Given the description of an element on the screen output the (x, y) to click on. 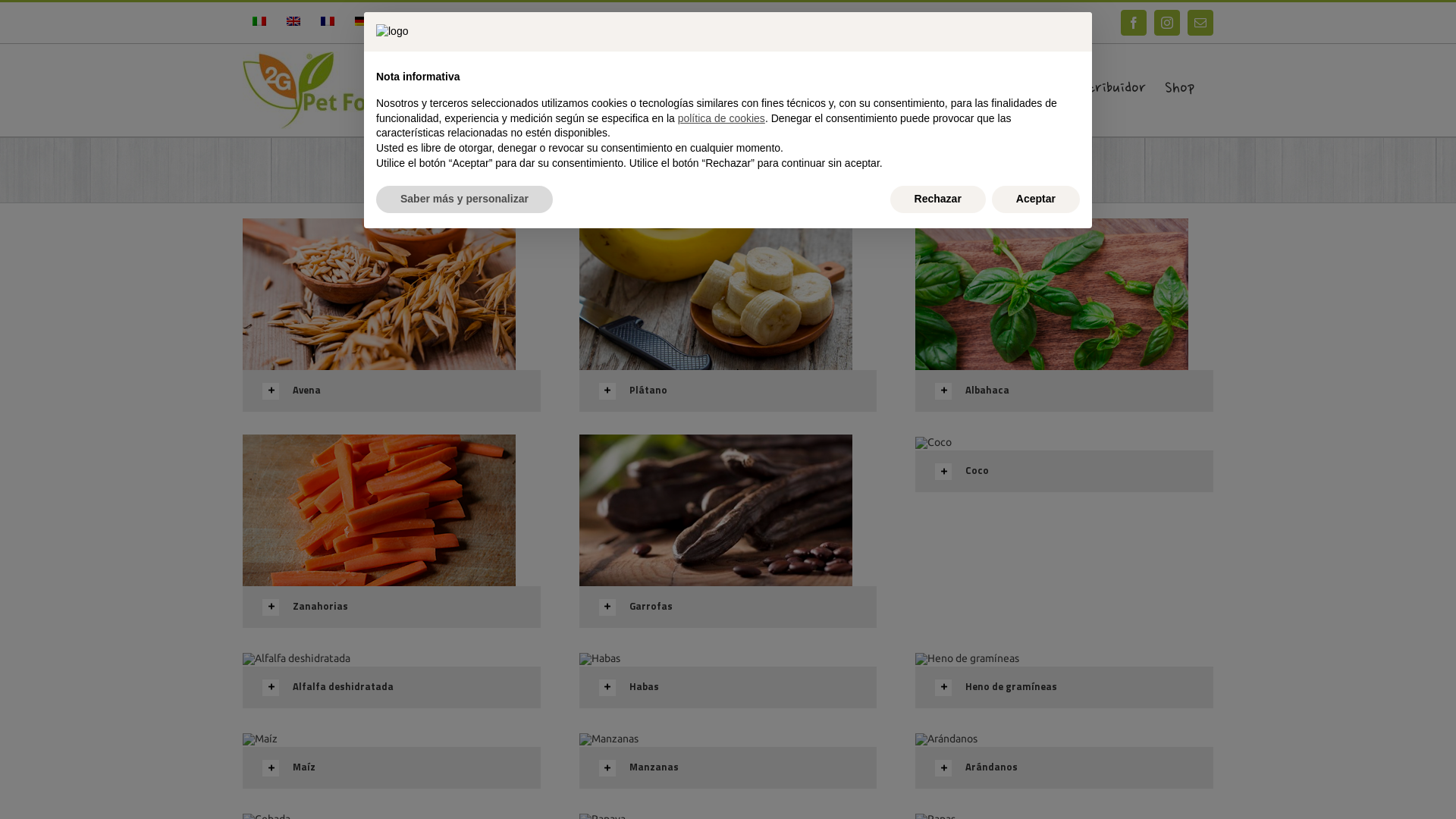
Instagram Element type: text (1166, 22)
Avena Element type: text (391, 390)
Garrofas Element type: text (728, 606)
Rechazar Element type: text (937, 199)
Alfalfa deshidratada Element type: text (391, 687)
Manzanas Element type: hover (608, 739)
Correo Element type: text (1200, 22)
Facebook Element type: text (1133, 22)
Albahaca Element type: text (1064, 390)
Shop Element type: text (1179, 87)
Portada Element type: text (616, 87)
Garrofas Element type: hover (715, 510)
Productos Element type: text (878, 87)
Contactos Element type: text (970, 87)
Habas Element type: text (728, 687)
Aceptar Element type: text (1035, 199)
Coco Element type: text (1064, 471)
Manzanas Element type: text (728, 767)
Coco Element type: hover (933, 442)
Alfalfa deshidratada Element type: hover (296, 658)
Albahaca Element type: hover (1051, 294)
Avena Element type: hover (378, 294)
Ingredientes naturales Element type: text (739, 87)
Zanahorias Element type: hover (378, 510)
Zanahorias Element type: text (391, 606)
Portada Element type: text (682, 182)
Habas Element type: hover (599, 658)
